Given the description of an element on the screen output the (x, y) to click on. 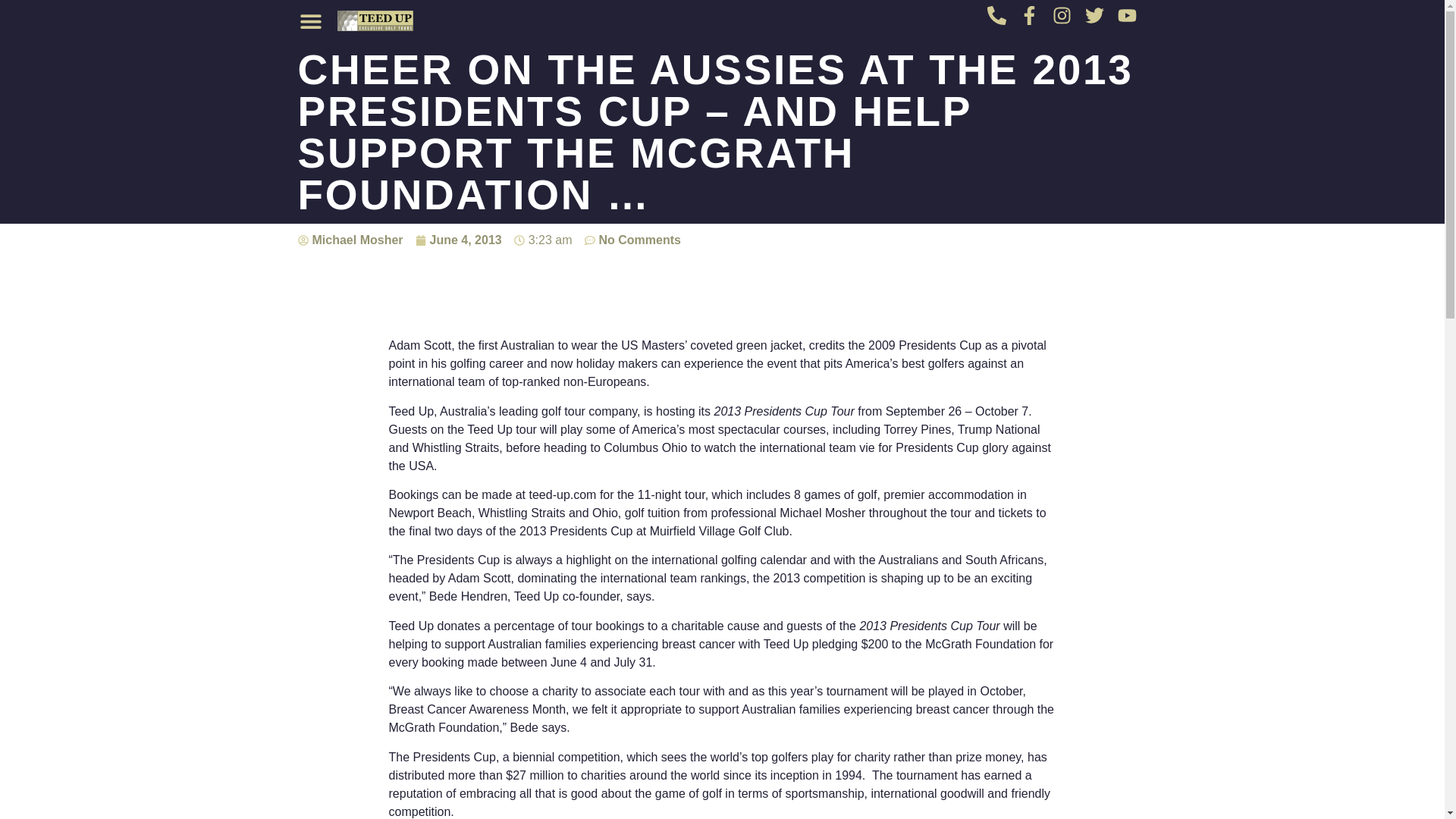
No Comments (633, 239)
June 4, 2013 (458, 239)
Michael Mosher (350, 239)
